Given the description of an element on the screen output the (x, y) to click on. 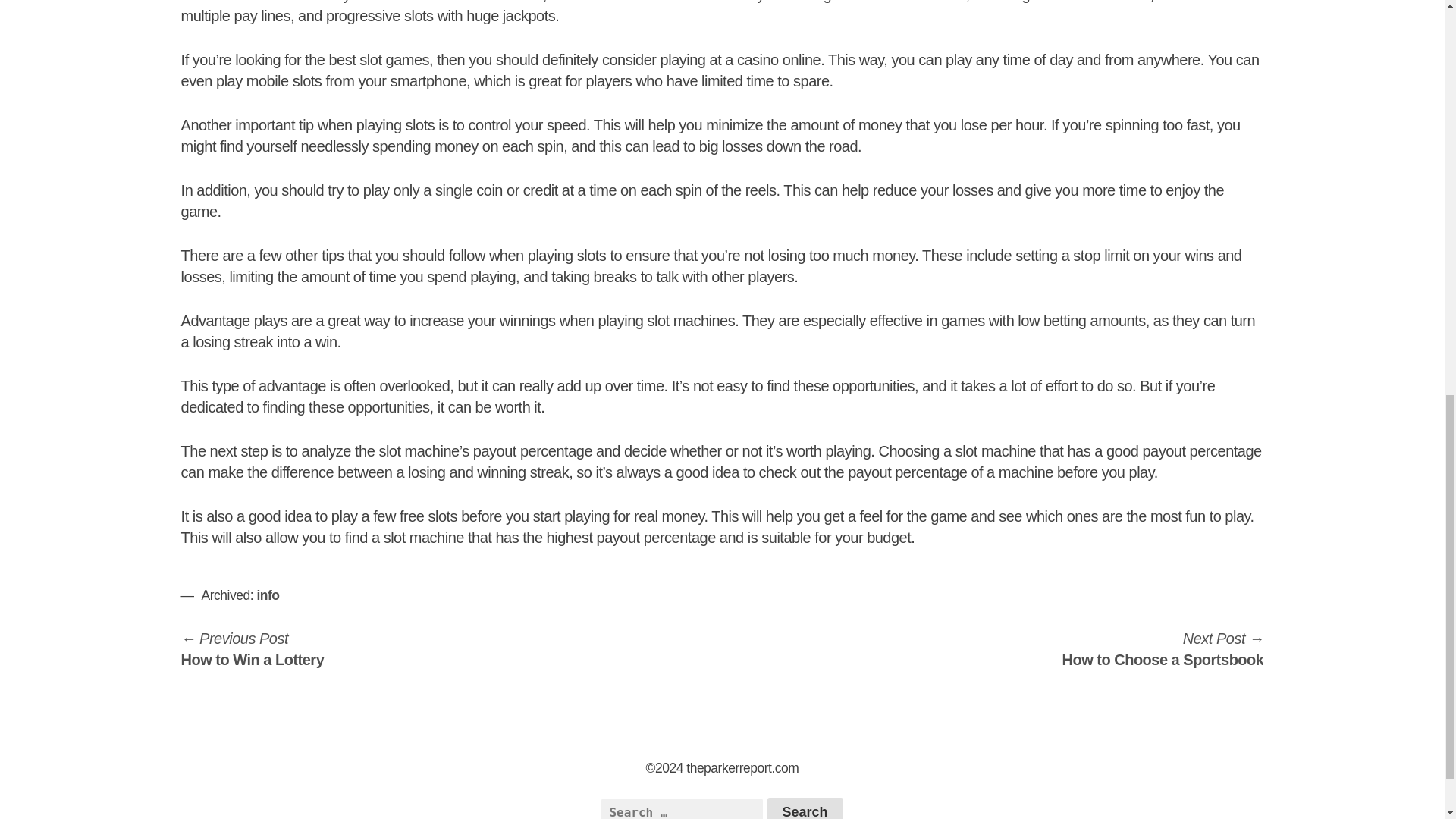
info (267, 595)
Search (805, 808)
Search (805, 808)
Search (805, 808)
